Given the description of an element on the screen output the (x, y) to click on. 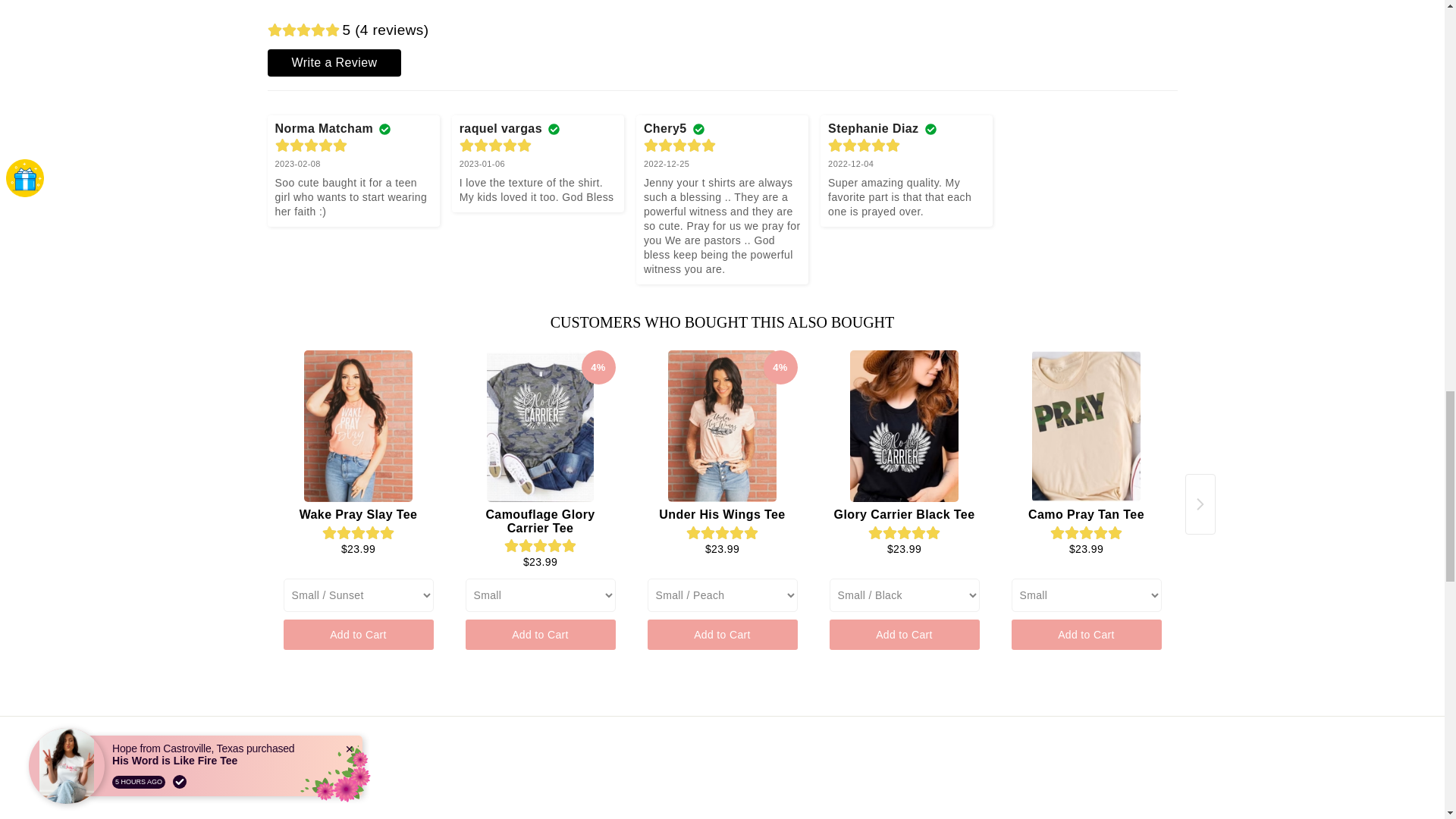
Camouflage Glory Carrier Tee (540, 426)
Wake Pray Slay Tee (358, 426)
Glory Carrier Black Tee (904, 426)
Camo Pray Tan Tee (1086, 426)
Under His Wings Tee (722, 426)
